Given the description of an element on the screen output the (x, y) to click on. 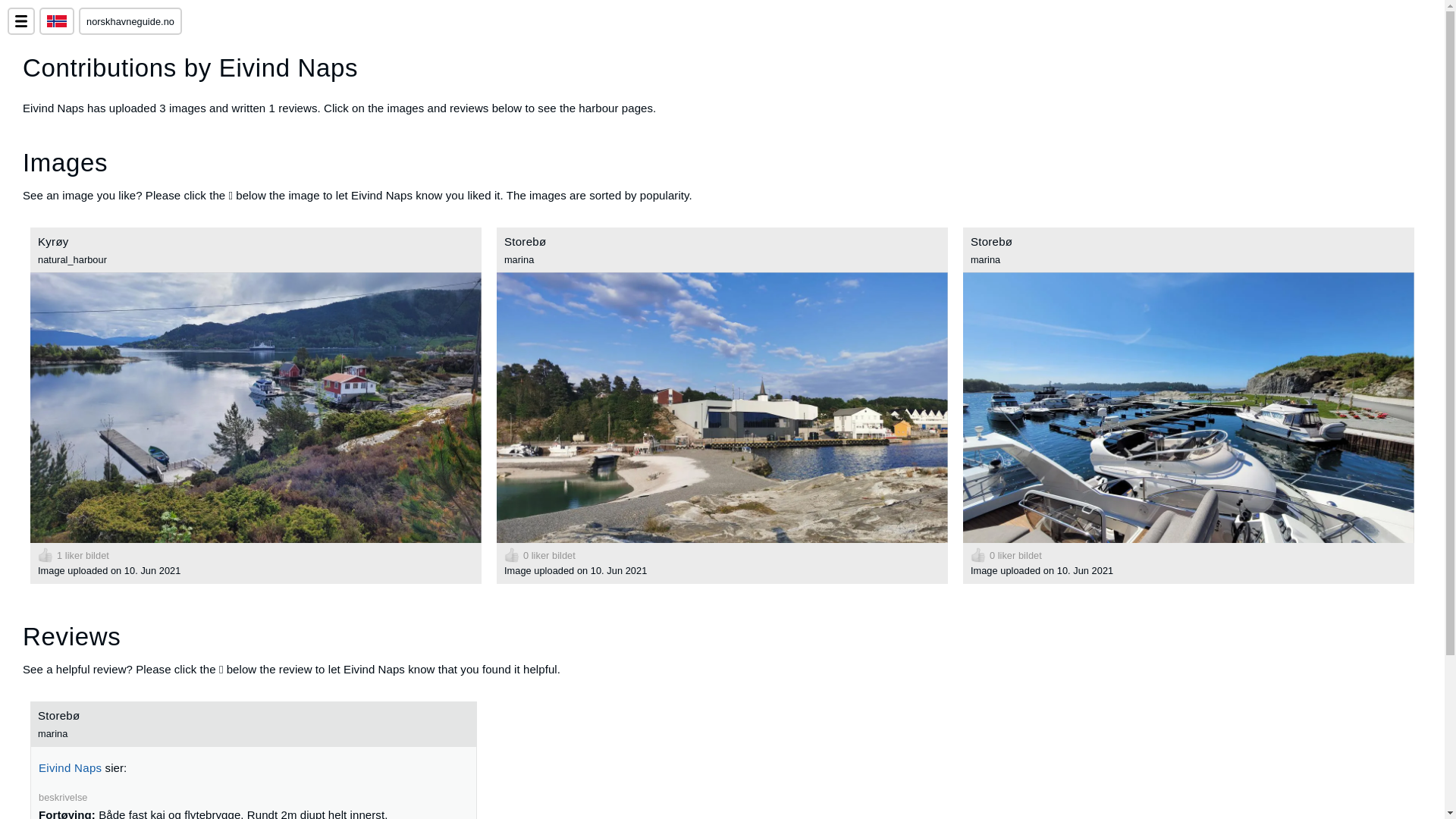
norskhavneguide.no (129, 21)
Eivind Naps (70, 767)
